Given the description of an element on the screen output the (x, y) to click on. 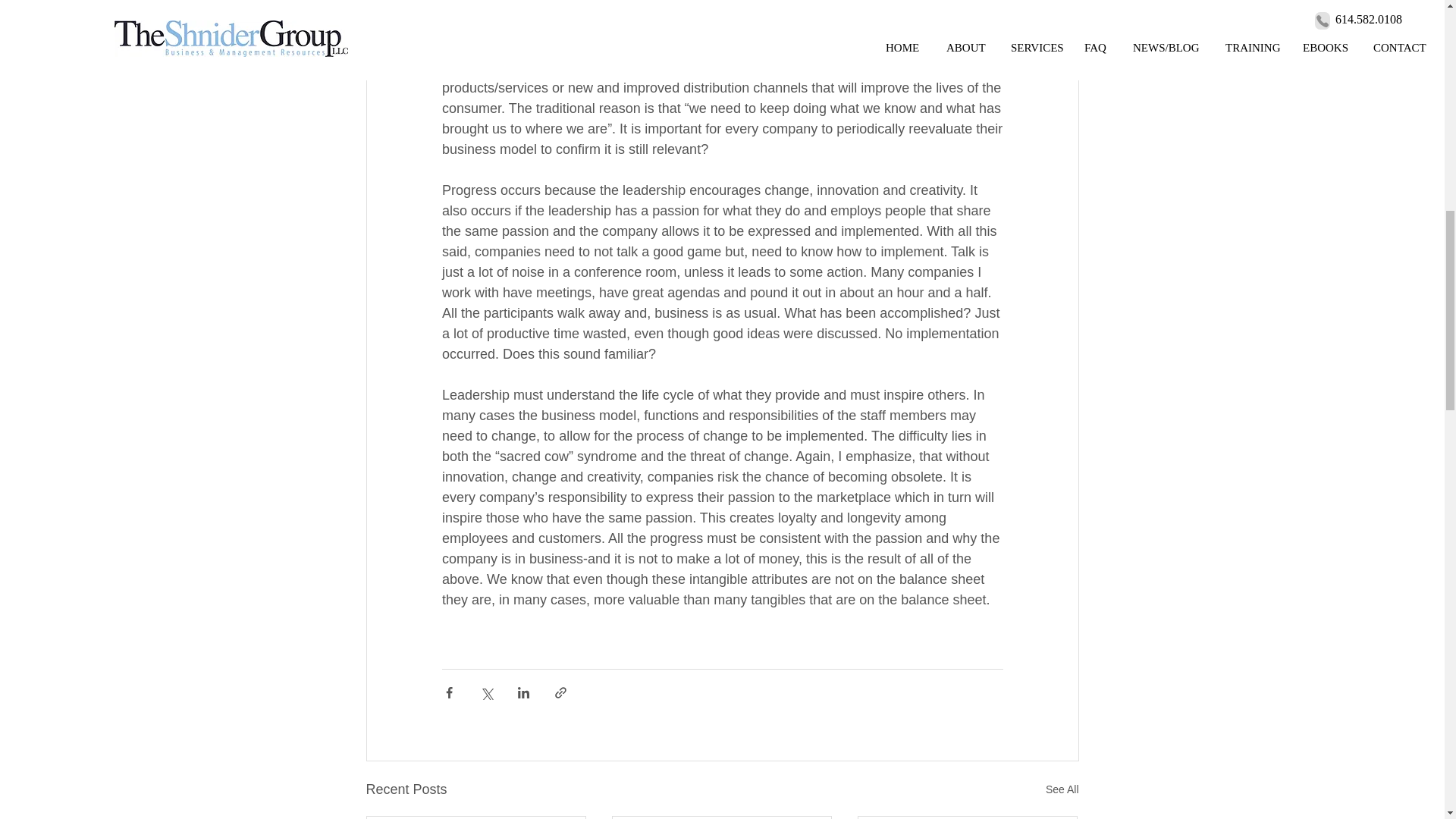
See All (1061, 789)
